Given the description of an element on the screen output the (x, y) to click on. 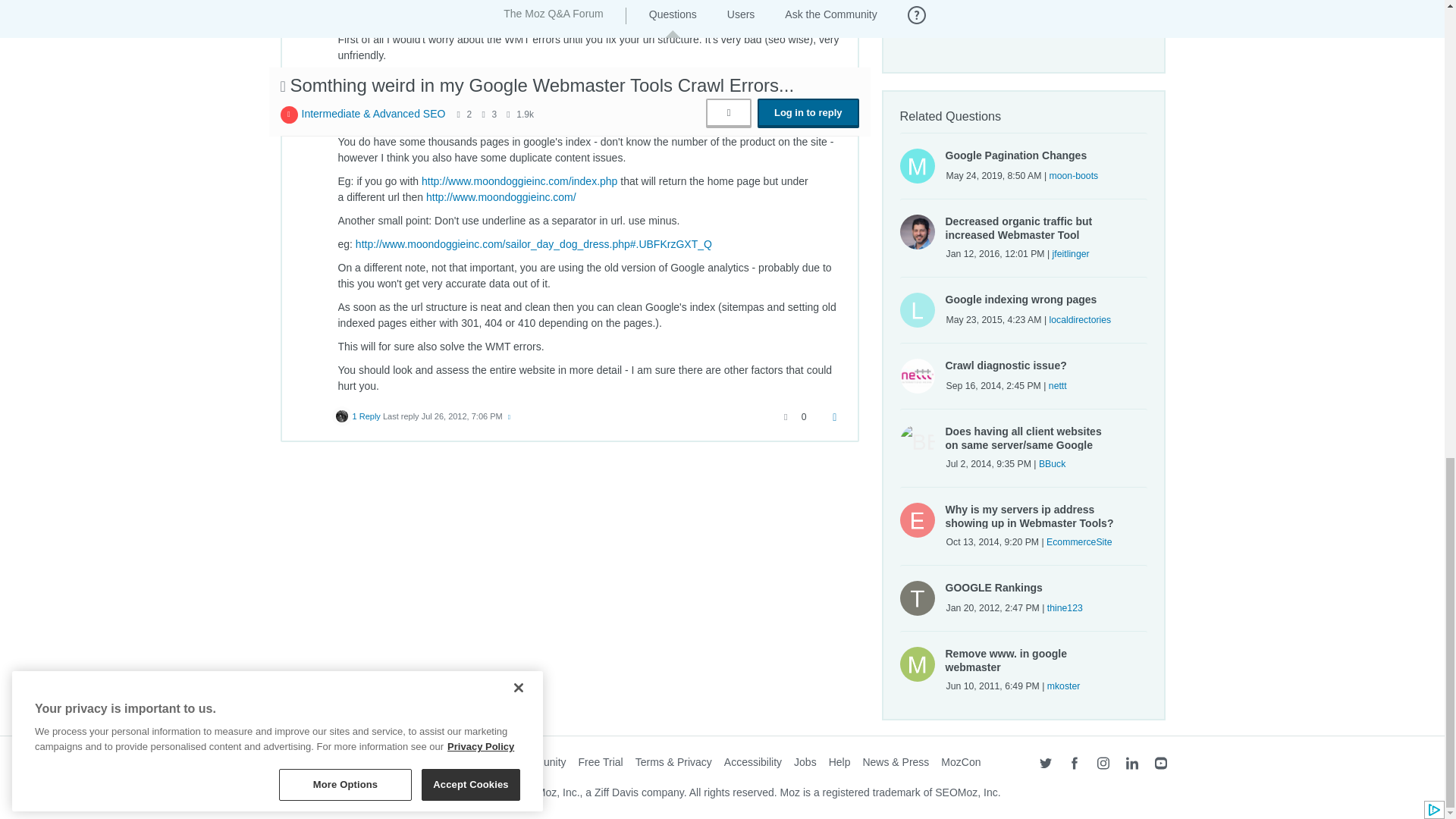
Moz logo (303, 765)
